Given the description of an element on the screen output the (x, y) to click on. 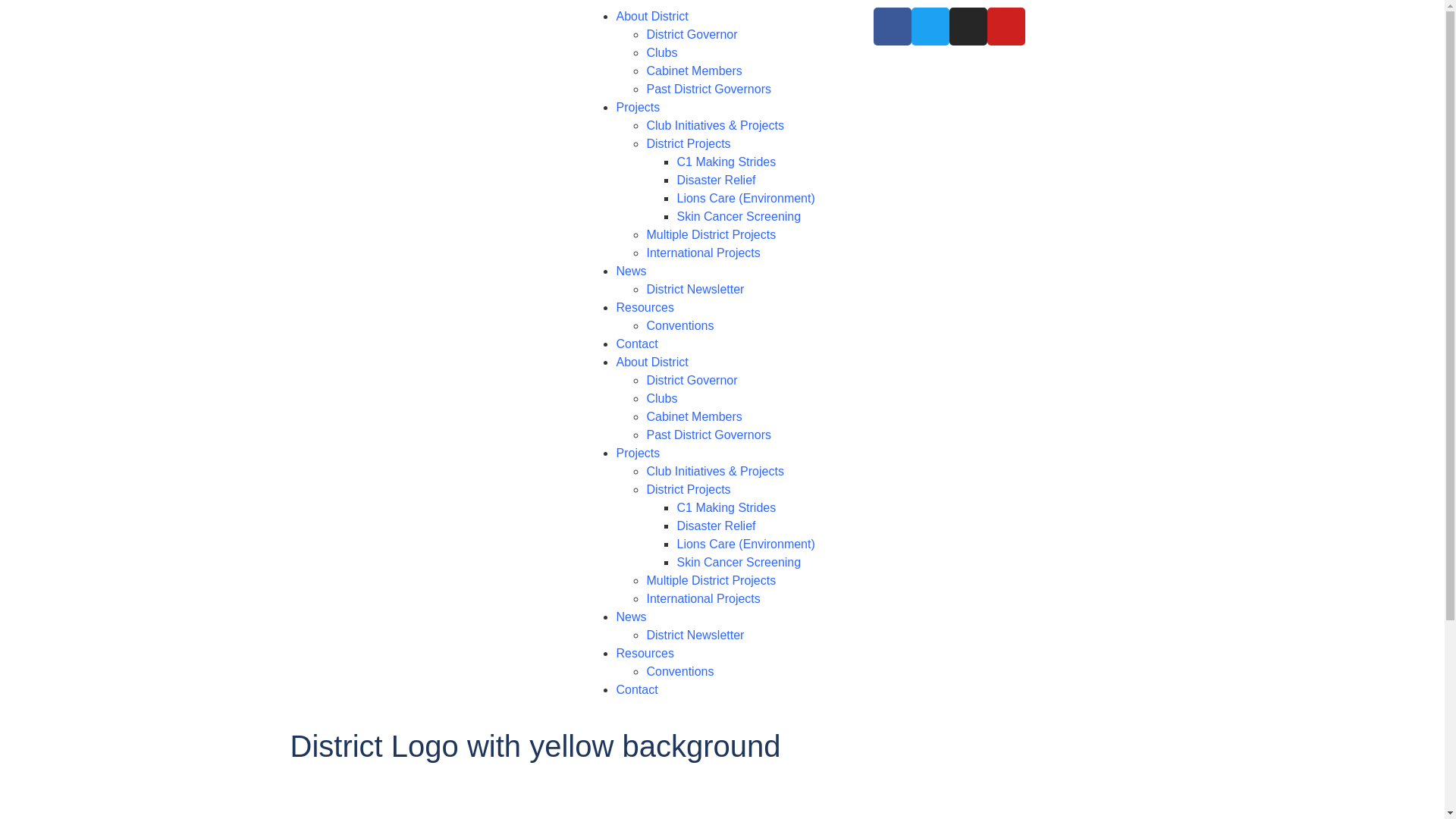
District Newsletter Element type: text (694, 288)
Skin Cancer Screening Element type: text (738, 216)
Multiple District Projects Element type: text (710, 580)
News Element type: text (630, 616)
Lions Care (Environment) Element type: text (745, 543)
Cabinet Members Element type: text (693, 416)
Past District Governors Element type: text (708, 88)
Multiple District Projects Element type: text (710, 234)
Conventions Element type: text (679, 325)
Projects Element type: text (637, 452)
District Projects Element type: text (688, 489)
District Projects Element type: text (688, 143)
Disaster Relief Element type: text (715, 179)
District Governor Element type: text (691, 34)
Clubs Element type: text (661, 52)
International Projects Element type: text (702, 252)
Past District Governors Element type: text (708, 434)
About District Element type: text (651, 15)
District Governor Element type: text (691, 379)
Resources Element type: text (644, 652)
Lions Care (Environment) Element type: text (745, 197)
C1 Making Strides Element type: text (725, 161)
Skin Cancer Screening Element type: text (738, 561)
Clubs Element type: text (661, 398)
C1 Making Strides Element type: text (725, 507)
Disaster Relief Element type: text (715, 525)
Projects Element type: text (637, 106)
News Element type: text (630, 270)
Club Initiatives & Projects Element type: text (714, 125)
Resources Element type: text (644, 307)
Conventions Element type: text (679, 671)
Contact Element type: text (636, 689)
District Newsletter Element type: text (694, 634)
Contact Element type: text (636, 343)
Club Initiatives & Projects Element type: text (714, 470)
About District Element type: text (651, 361)
Cabinet Members Element type: text (693, 70)
International Projects Element type: text (702, 598)
